Given the description of an element on the screen output the (x, y) to click on. 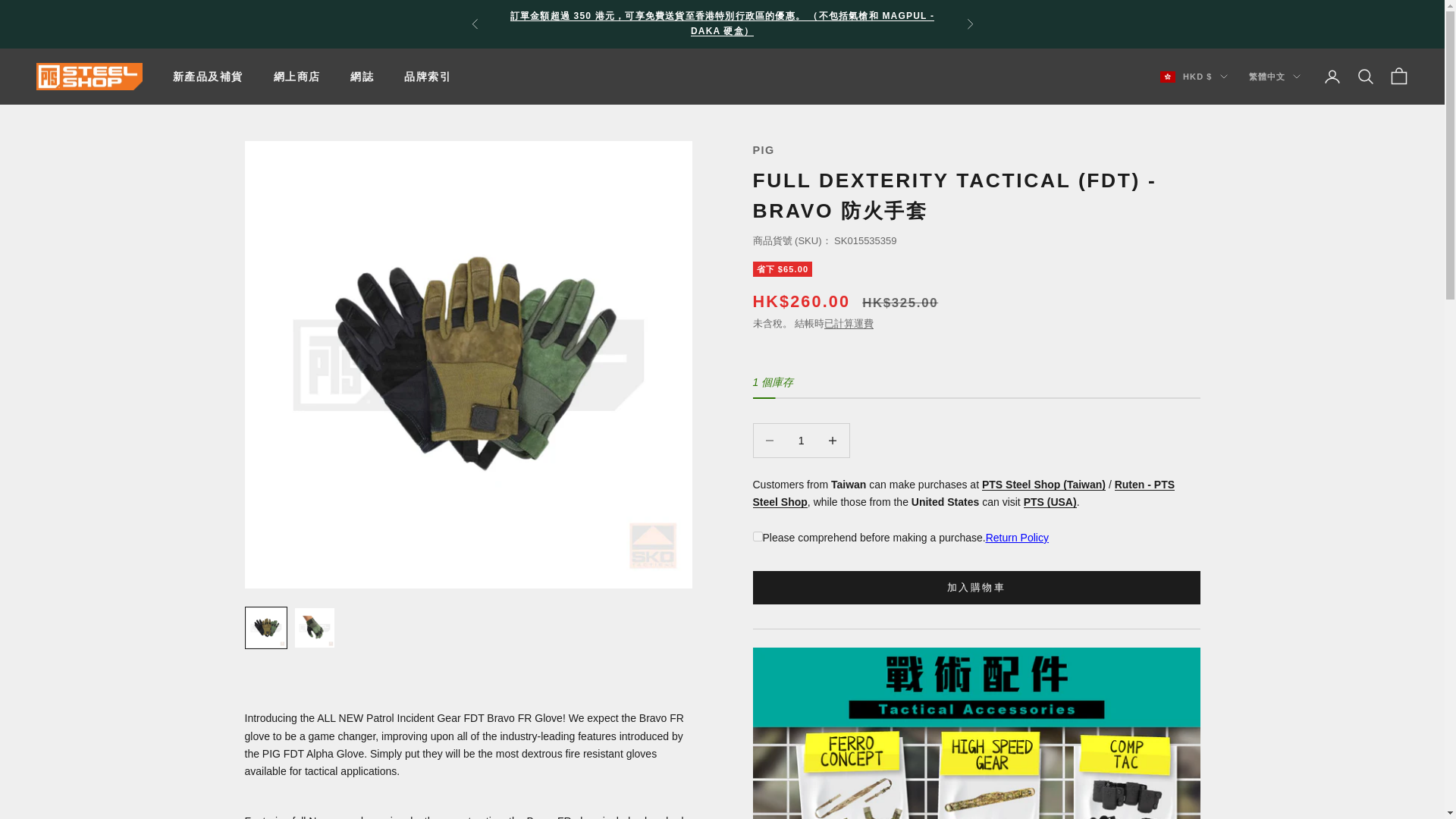
1 (801, 440)
PTS Steel Shop (89, 76)
on (756, 536)
